Given the description of an element on the screen output the (x, y) to click on. 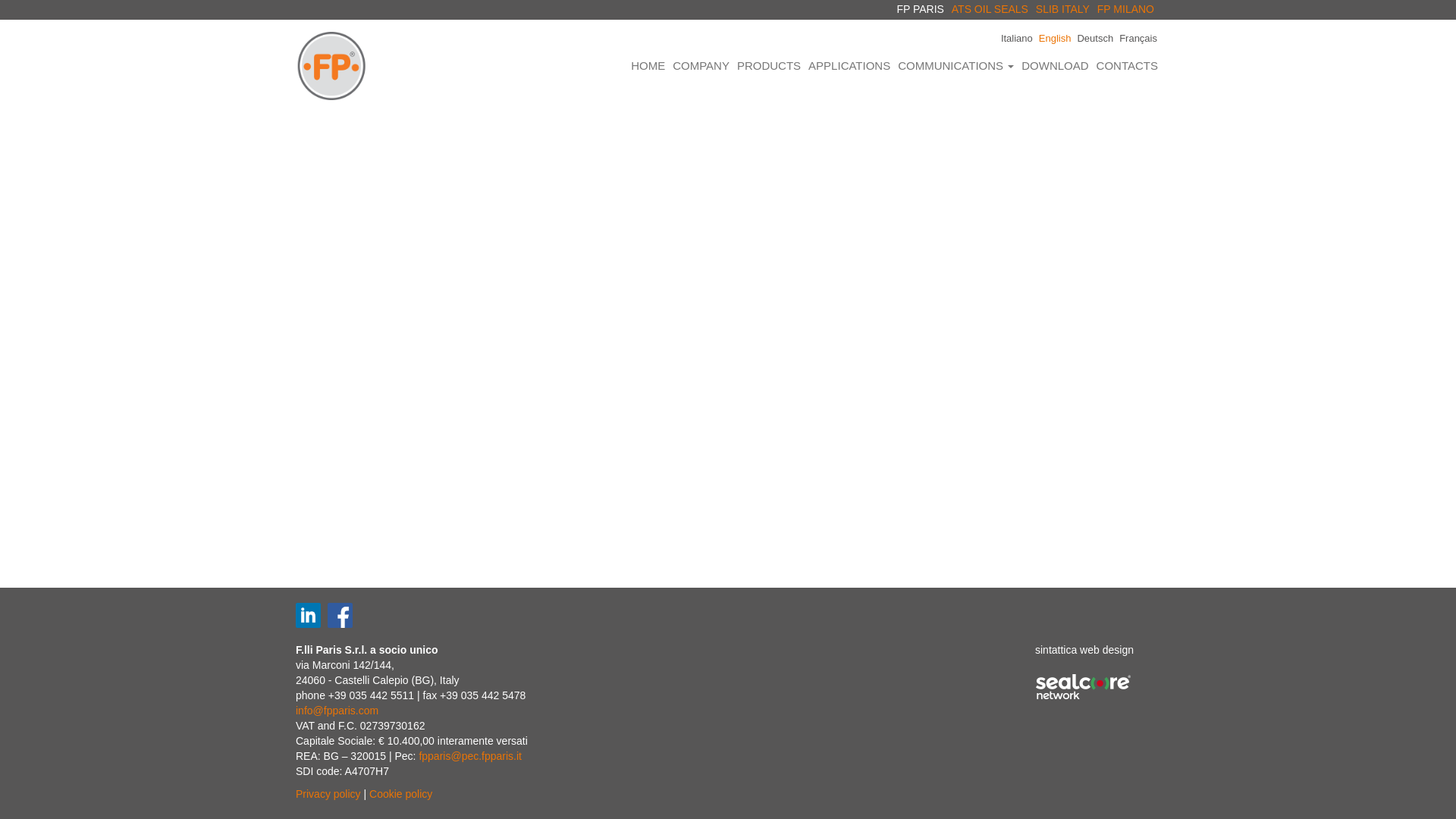
DOWNLOAD (1054, 65)
ATS OIL SEALS (989, 9)
Deutsch (1095, 38)
CONTACTS (1126, 65)
HOME (647, 65)
SLIB ITALY (1062, 9)
APPLICATIONS (848, 65)
English (1055, 38)
Italiano (1016, 38)
FP MILANO (1125, 9)
COMPANY (700, 65)
COMMUNICATIONS (955, 65)
PRODUCTS (768, 65)
